Given the description of an element on the screen output the (x, y) to click on. 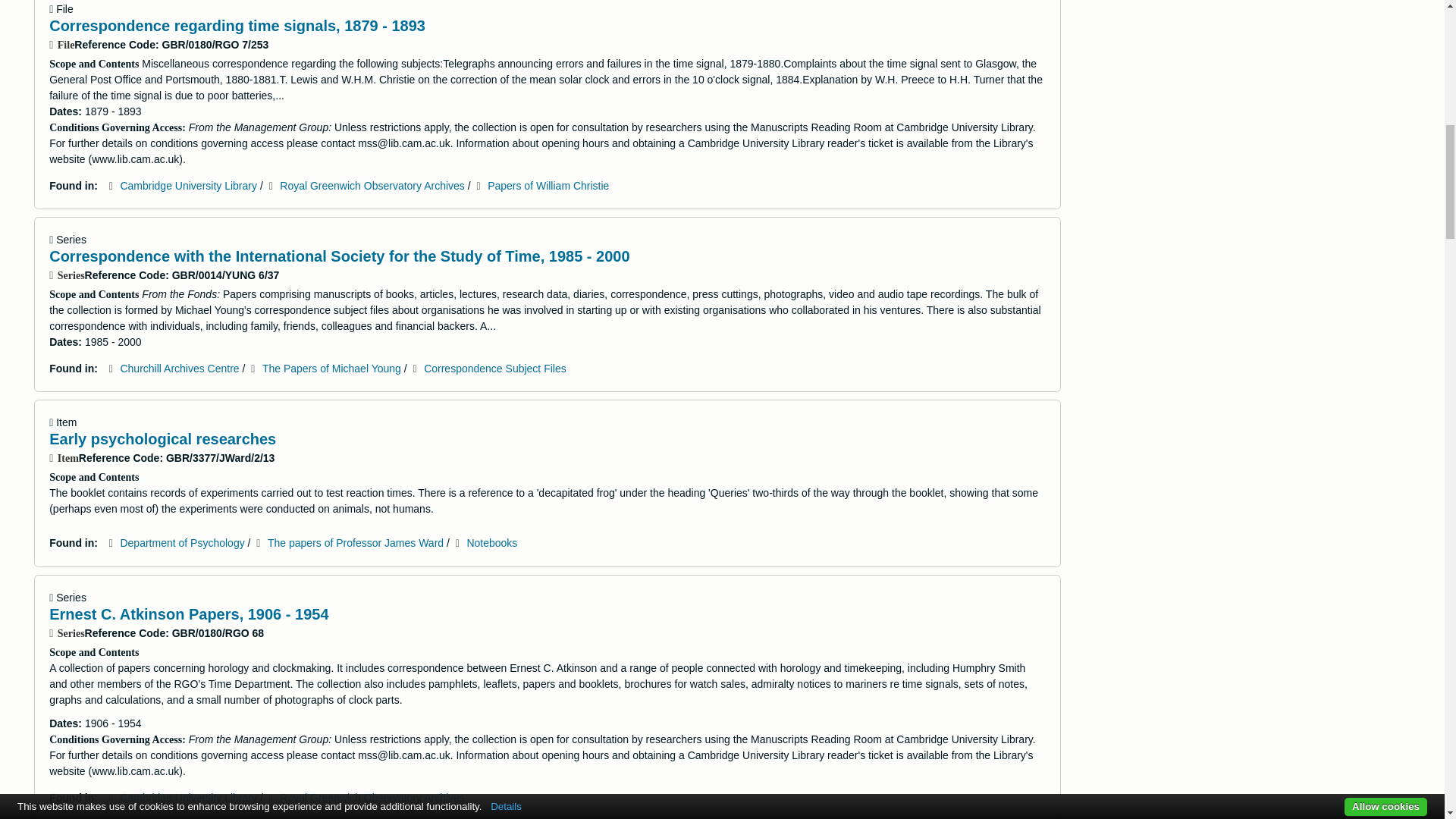
Department of Psychology (181, 542)
Royal Greenwich Observatory Archives (371, 185)
The papers of Professor James Ward (355, 542)
Cambridge University Library (188, 185)
Notebooks (490, 542)
Churchill Archives Centre (178, 368)
The Papers of Michael Young (331, 368)
Early psychological researches (162, 438)
Papers of William Christie (547, 185)
